Given the description of an element on the screen output the (x, y) to click on. 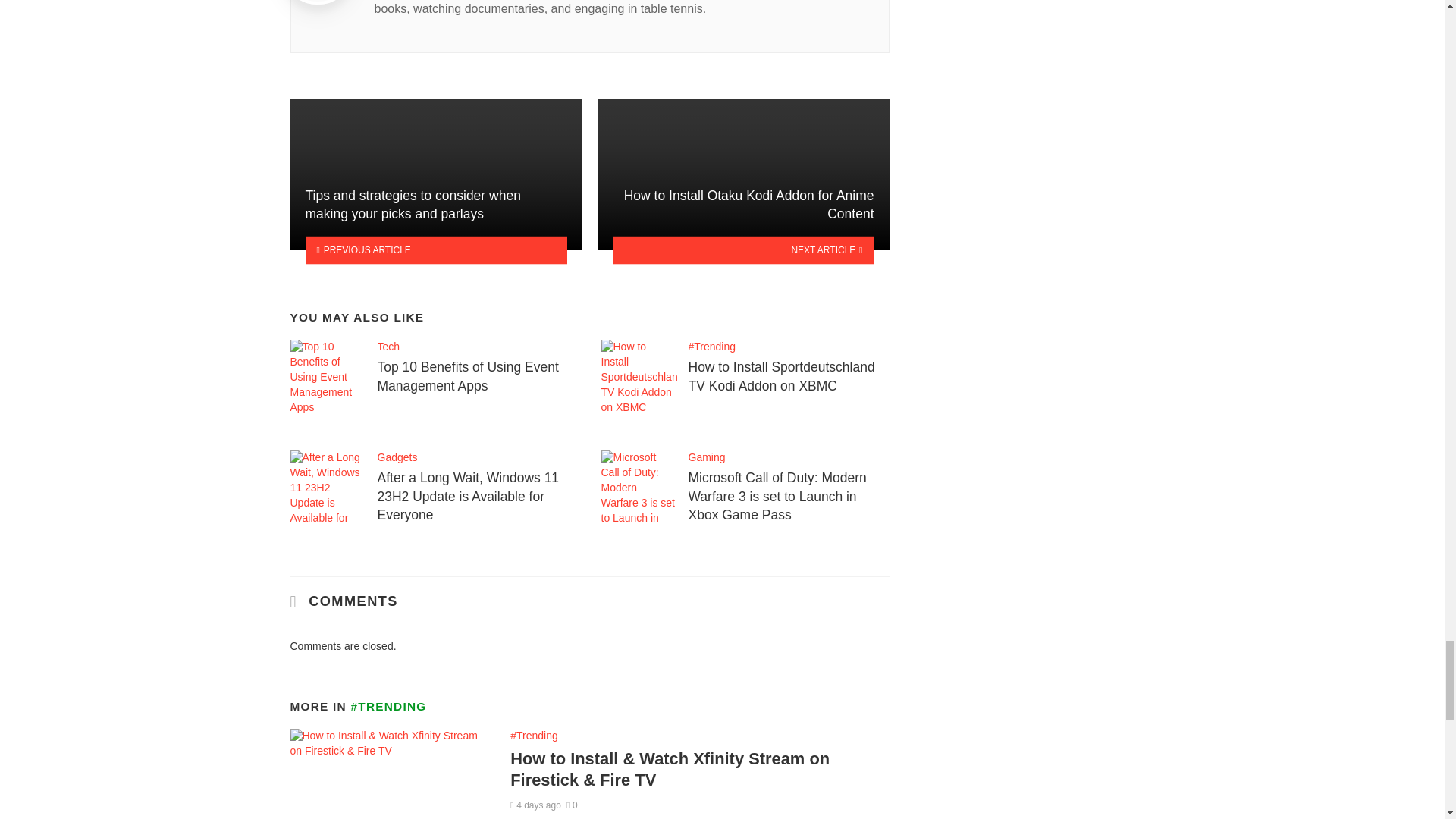
0 Comments (572, 805)
July 18, 2024 at 1:43 pm (535, 805)
